Given the description of an element on the screen output the (x, y) to click on. 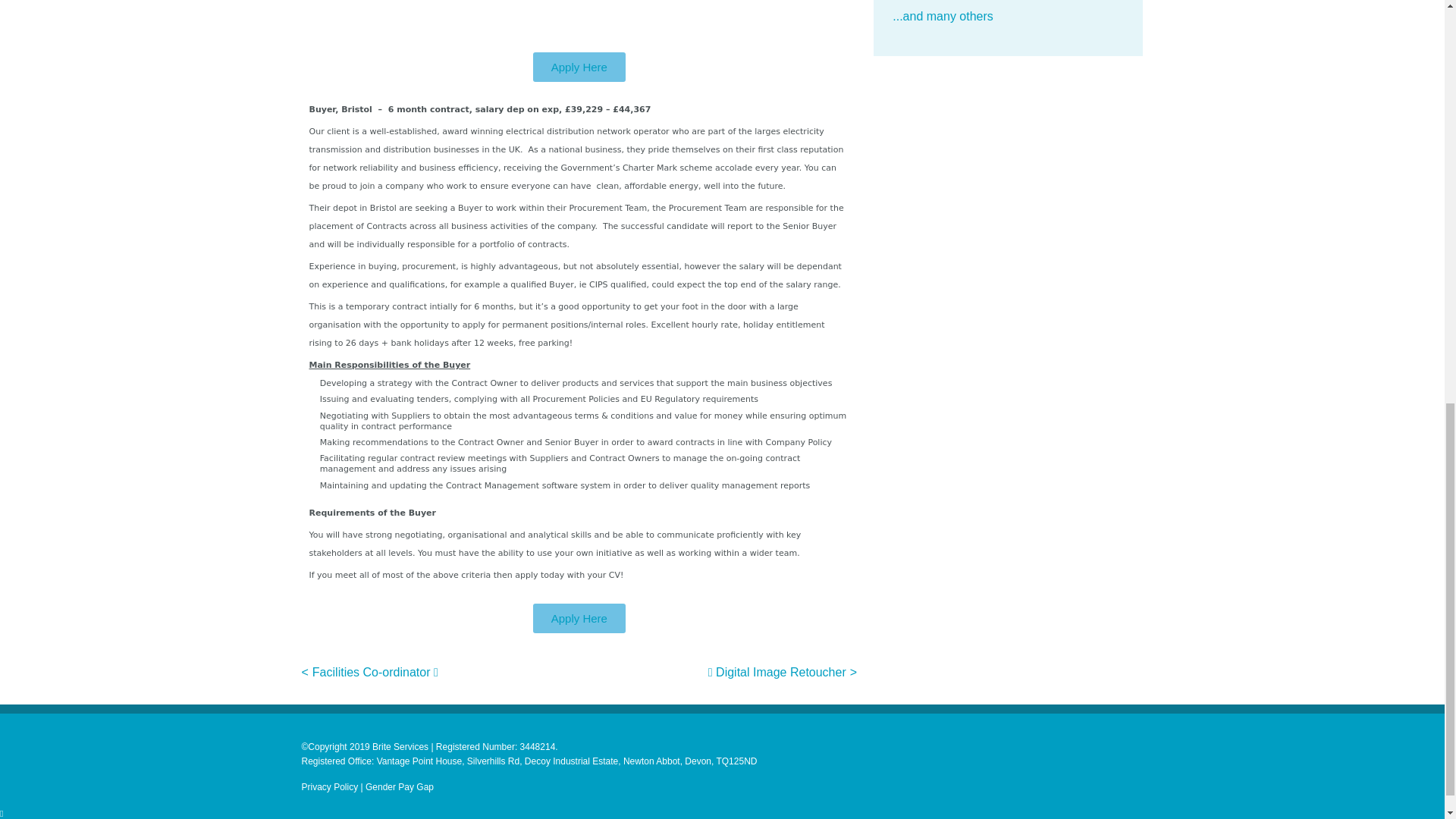
Apply Here (579, 618)
Apply Here (579, 66)
Gender Pay Gap (399, 787)
Privacy Policy (329, 787)
Facilities Co-ordinator (375, 671)
Digital Image Retoucher (776, 671)
